Given the description of an element on the screen output the (x, y) to click on. 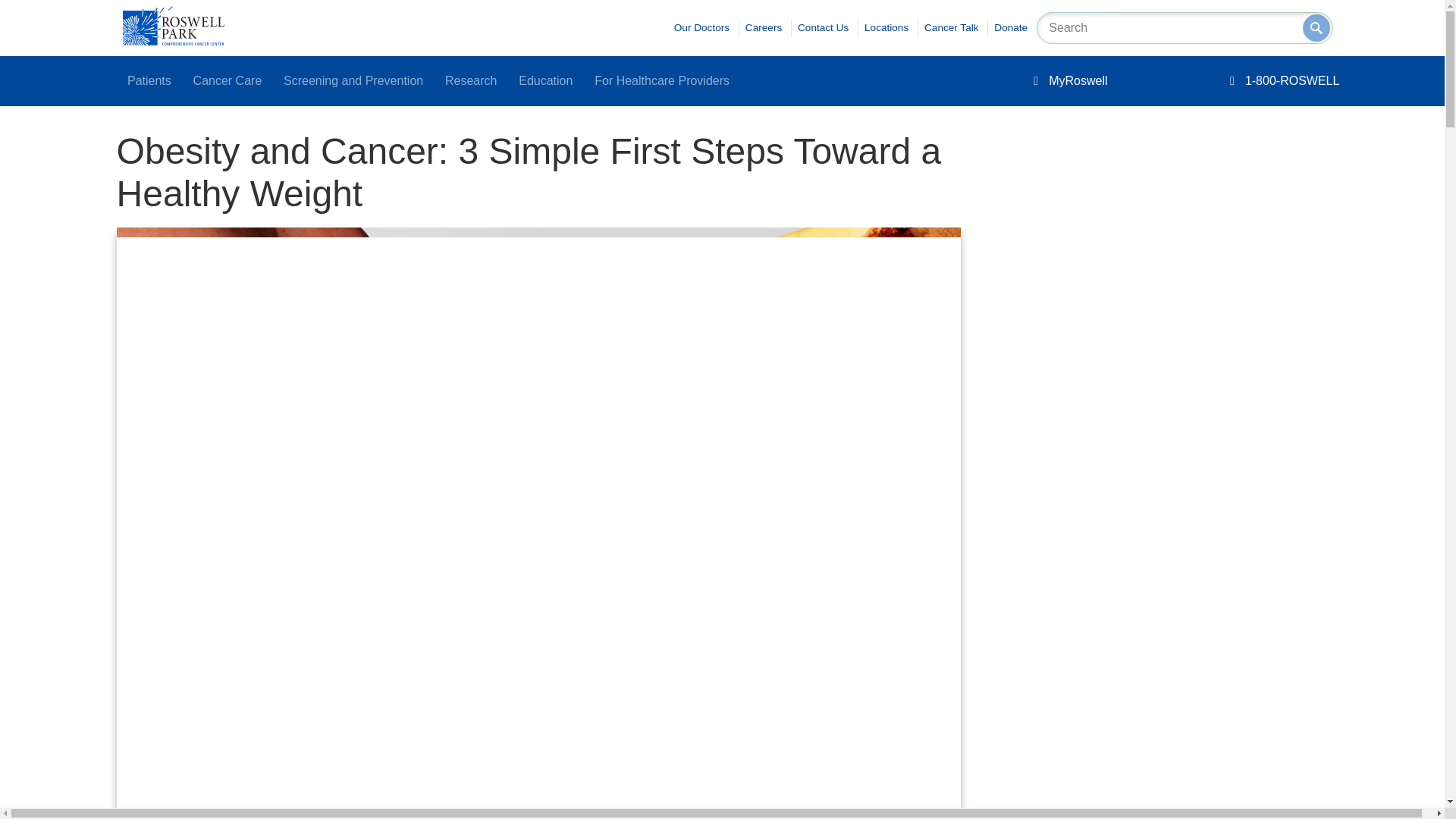
Home (173, 41)
Patients (149, 81)
